Given the description of an element on the screen output the (x, y) to click on. 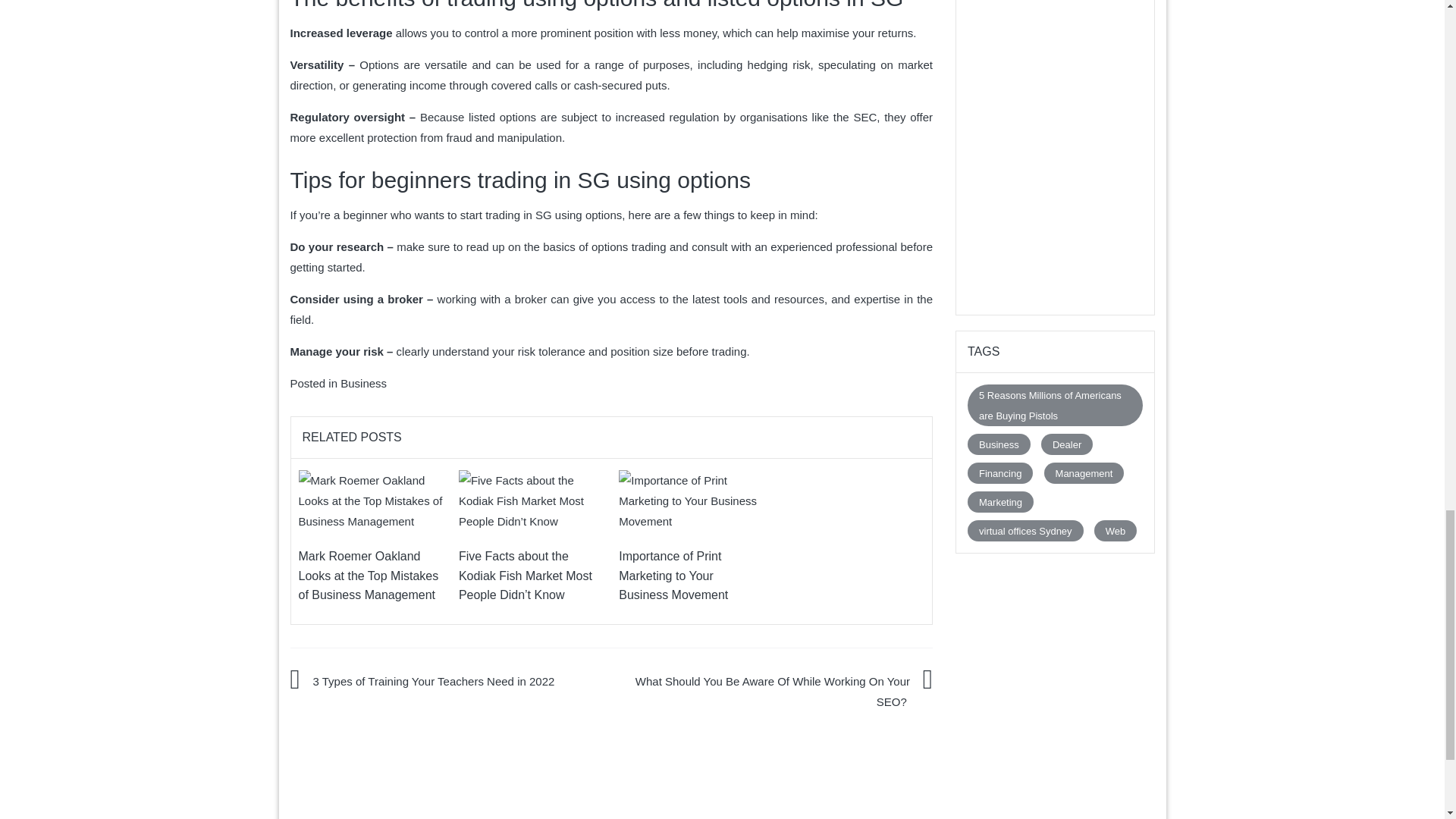
Business (363, 382)
Importance of Print Marketing to Your Business Movement (690, 499)
Importance of Print Marketing to Your Business Movement (690, 500)
Importance of Print Marketing to Your Business Movement (673, 575)
